Given the description of an element on the screen output the (x, y) to click on. 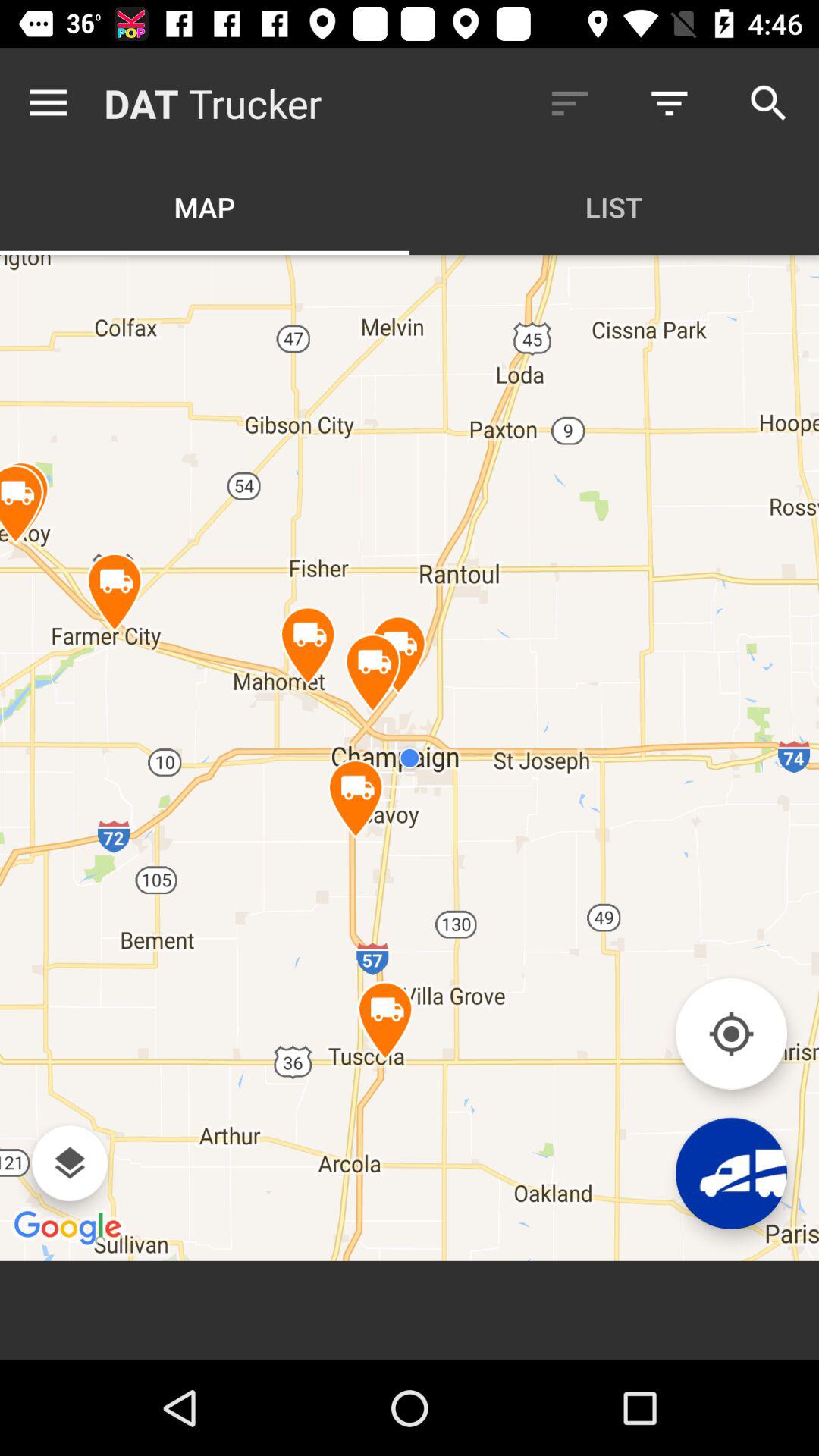
launch the item above the list (669, 103)
